Given the description of an element on the screen output the (x, y) to click on. 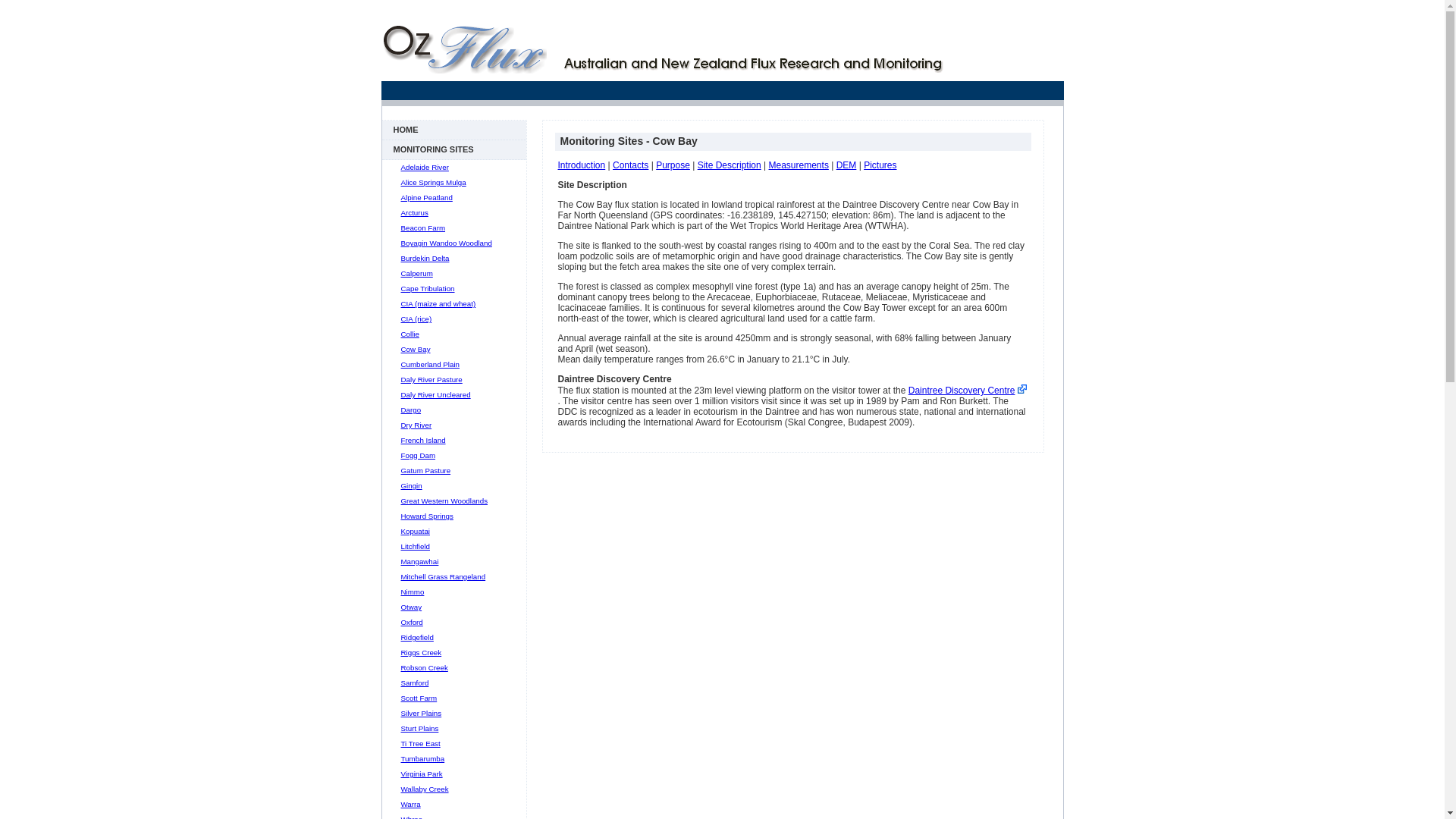
Mitchell Grass Rangeland Element type: text (442, 576)
Robson Creek Element type: text (423, 667)
Arcturus Element type: text (413, 212)
Kopuatai Element type: text (414, 531)
Calperum Element type: text (416, 273)
Riggs Creek Element type: text (420, 652)
Contacts Element type: text (630, 165)
Otway Element type: text (410, 606)
Purpose Element type: text (672, 165)
Scott Farm Element type: text (418, 697)
Beacon Farm Element type: text (422, 227)
Sturt Plains Element type: text (419, 728)
Dry River Element type: text (415, 424)
Daly River Pasture Element type: text (430, 379)
Introduction Element type: text (581, 165)
Ridgefield Element type: text (416, 637)
Dargo Element type: text (410, 409)
Fogg Dam Element type: text (417, 455)
HOME Element type: text (454, 130)
Tumbarumba Element type: text (422, 758)
MONITORING SITES Element type: text (454, 150)
CIA (maize and wheat) Element type: text (437, 303)
Gingin Element type: text (410, 485)
Litchfield Element type: text (414, 546)
Warra Element type: text (410, 804)
Howard Springs Element type: text (426, 515)
Silver Plains Element type: text (420, 713)
Alpine Peatland Element type: text (425, 197)
Daly River Uncleared Element type: text (435, 394)
Collie Element type: text (409, 333)
Mangawhai Element type: text (419, 561)
Cape Tribulation Element type: text (427, 288)
Virginia Park Element type: text (421, 773)
Ti Tree East Element type: text (419, 743)
Wallaby Creek Element type: text (424, 788)
Nimmo Element type: text (411, 591)
Pictures Element type: text (879, 165)
French Island Element type: text (422, 440)
Samford Element type: text (414, 682)
Alice Springs Mulga Element type: text (432, 182)
DEM Element type: text (846, 165)
CIA (rice) Element type: text (415, 318)
Boyagin Wandoo Woodland Element type: text (445, 242)
Daintree Discovery Centre Element type: text (961, 390)
Cow Bay Element type: text (414, 349)
Oxford Element type: text (411, 622)
Adelaide River Element type: text (424, 167)
Burdekin Delta Element type: text (424, 258)
Great Western Woodlands Element type: text (443, 500)
Cumberland Plain Element type: text (429, 364)
Gatum Pasture Element type: text (425, 470)
Measurements Element type: text (798, 165)
Site Description Element type: text (729, 165)
